Given the description of an element on the screen output the (x, y) to click on. 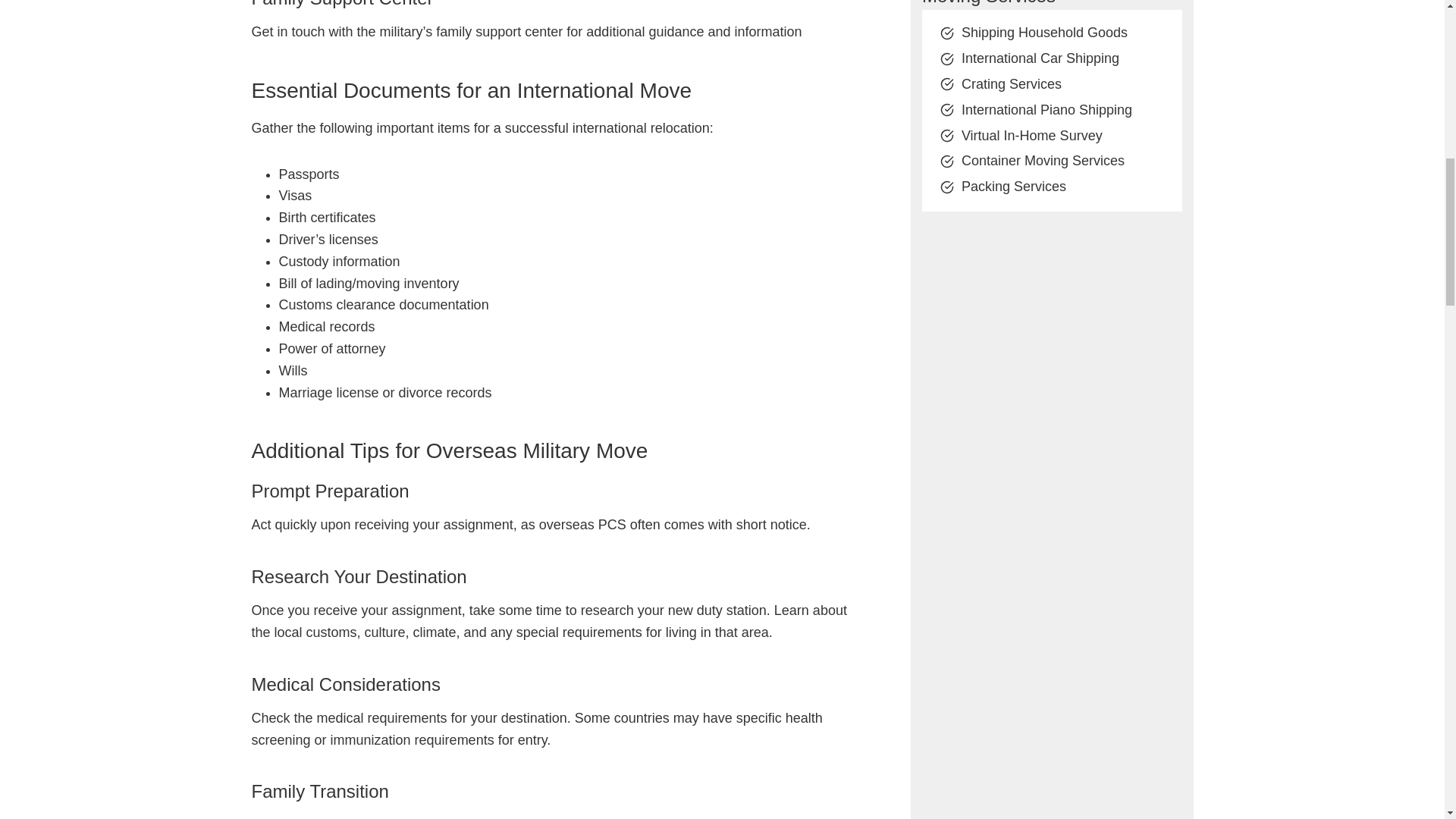
Overseas moving (304, 818)
